Given the description of an element on the screen output the (x, y) to click on. 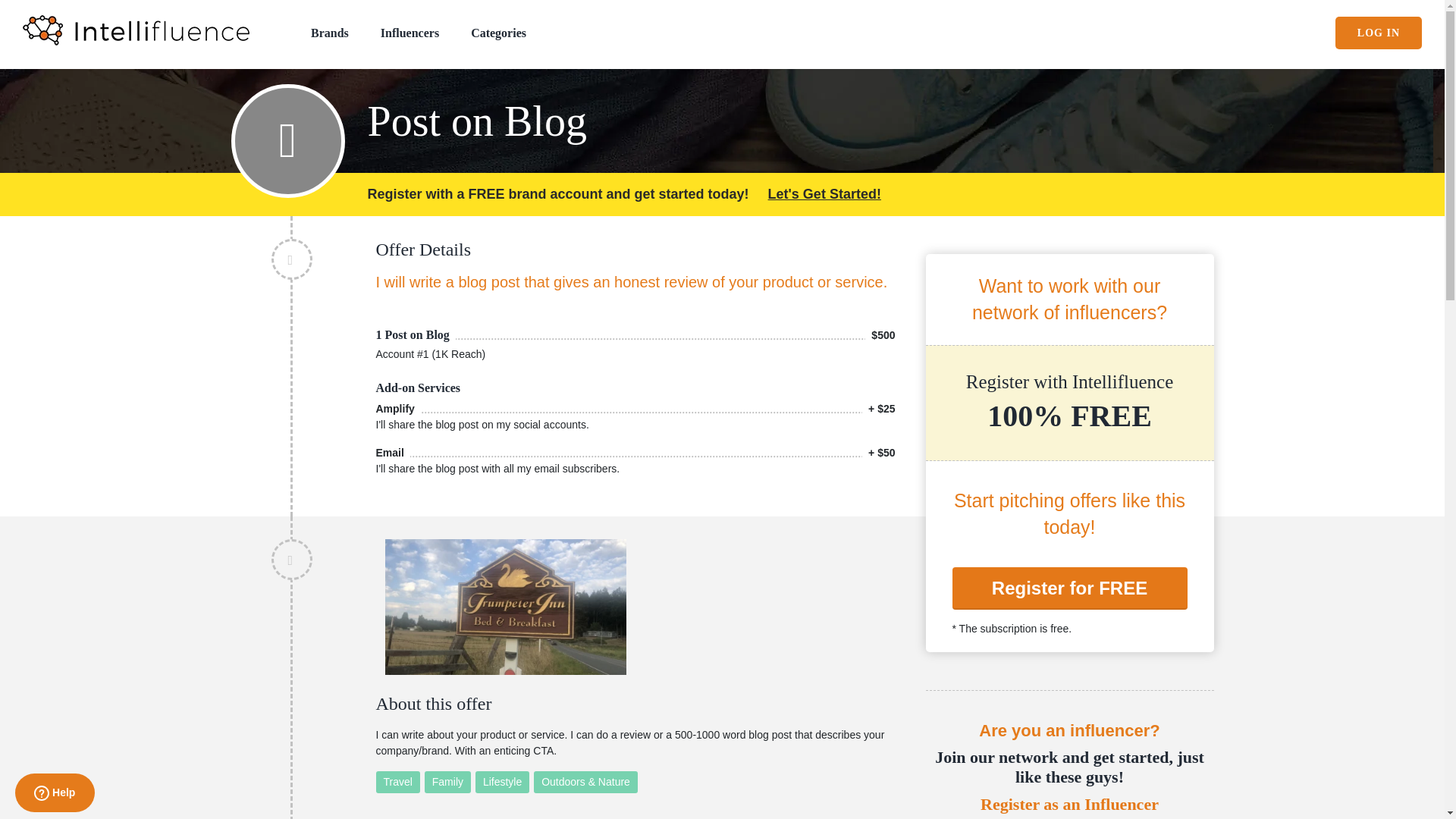
Lifestyle (502, 782)
Family (447, 782)
Register as an Influencer (1068, 804)
Let's Get Started! (824, 194)
LOG IN (1378, 31)
Post on Blog (789, 115)
Brands (330, 31)
Register for FREE (1070, 588)
Influencers (409, 31)
Travel (397, 782)
Categories (497, 31)
